Given the description of an element on the screen output the (x, y) to click on. 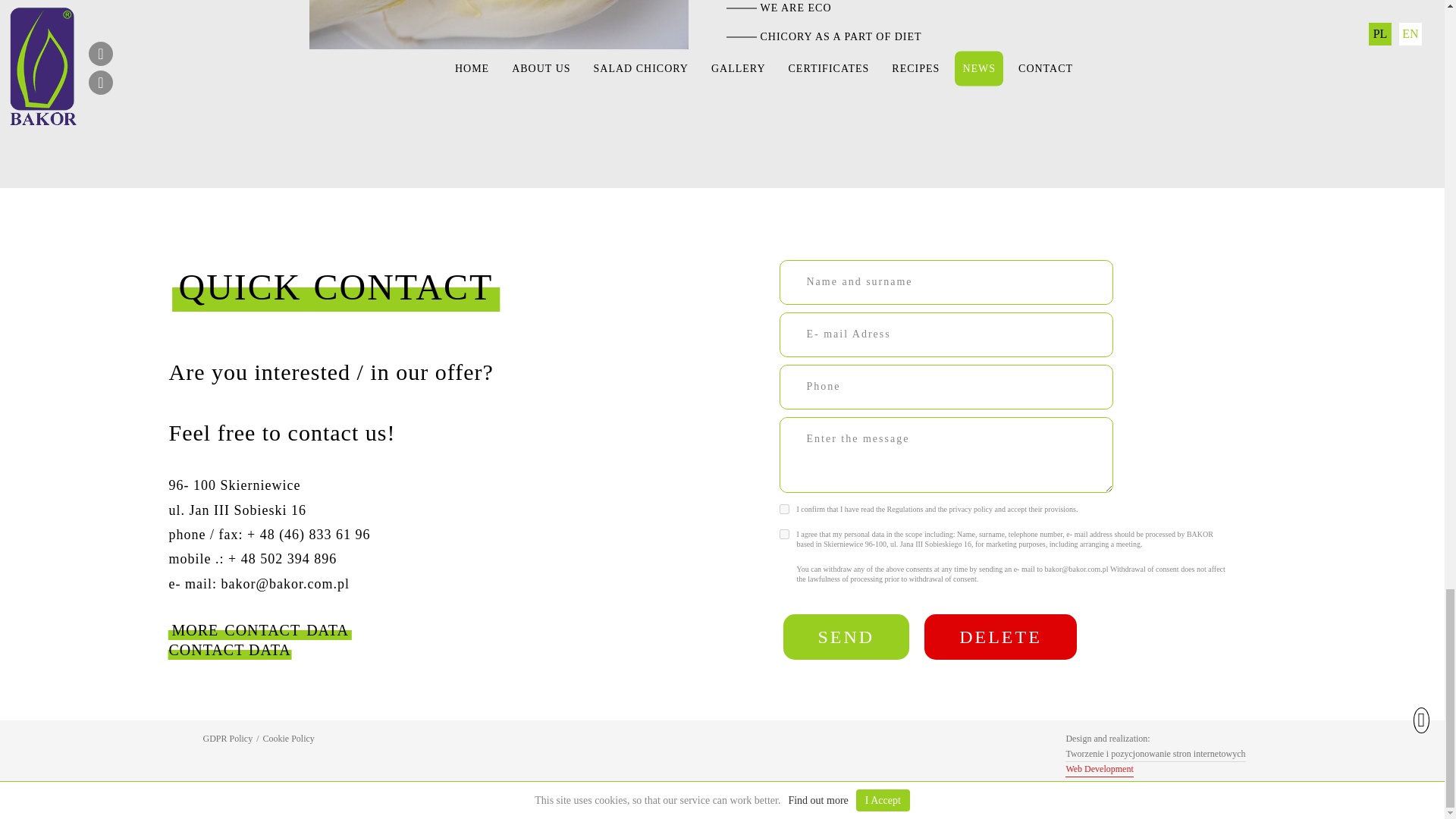
Tworzenie i pozycjonowanie stron internetowych (1154, 761)
value1 (783, 509)
value1 (783, 533)
